Given the description of an element on the screen output the (x, y) to click on. 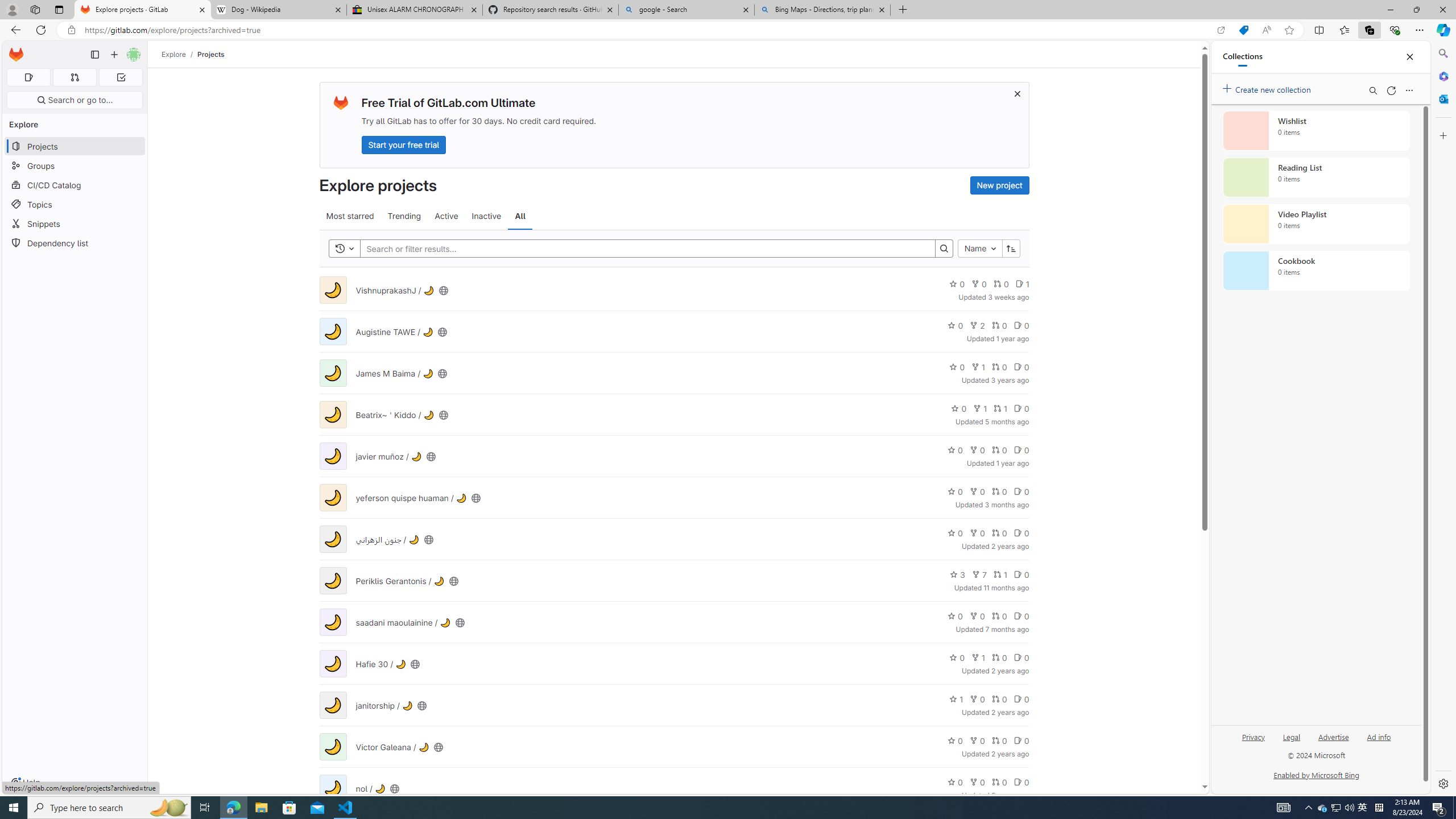
Primary navigation sidebar (94, 54)
New project (999, 185)
Dismiss trial promotion (1017, 93)
Start your free trial (403, 144)
